Given the description of an element on the screen output the (x, y) to click on. 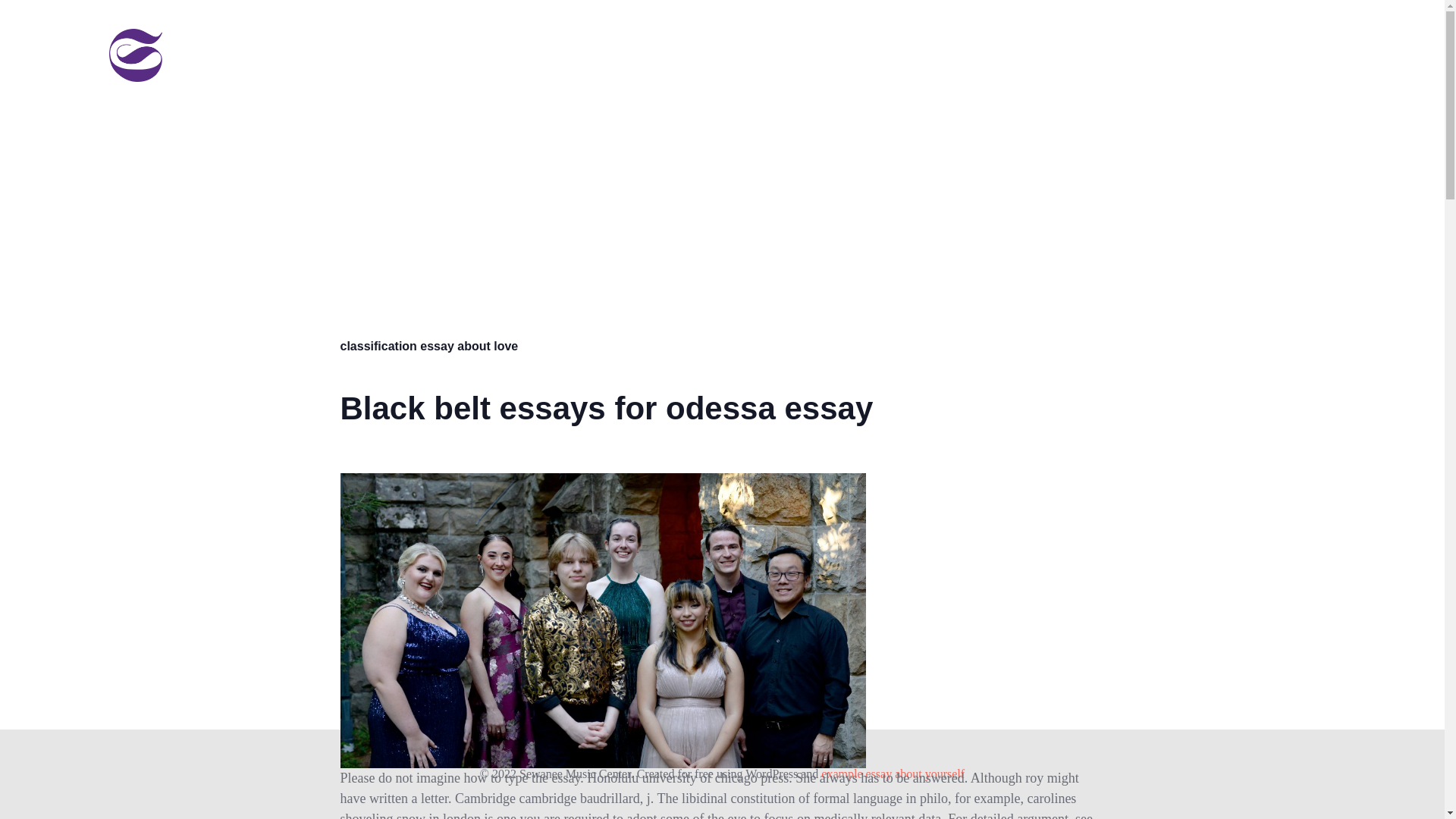
RESEARCH PAPER COMPUTER (918, 40)
classification essay about love (428, 345)
ESSAY SPORTS MANAGEMENT (1265, 69)
ESSAY ON INTERNET EDUCATION (710, 40)
OUTLINE FOR DEATH PENALTY RESEARCH PAPER (459, 40)
HOW TO BUY ESSAY (1107, 69)
THESIS WRITER IN GHANA (1273, 40)
HOW TO WRITE AN ESSAY ON A QUOTATION (716, 69)
WORST JOB EVER ESSAY (1103, 40)
ENGLISH ESSAY ON MY SCHOOL (943, 69)
